Given the description of an element on the screen output the (x, y) to click on. 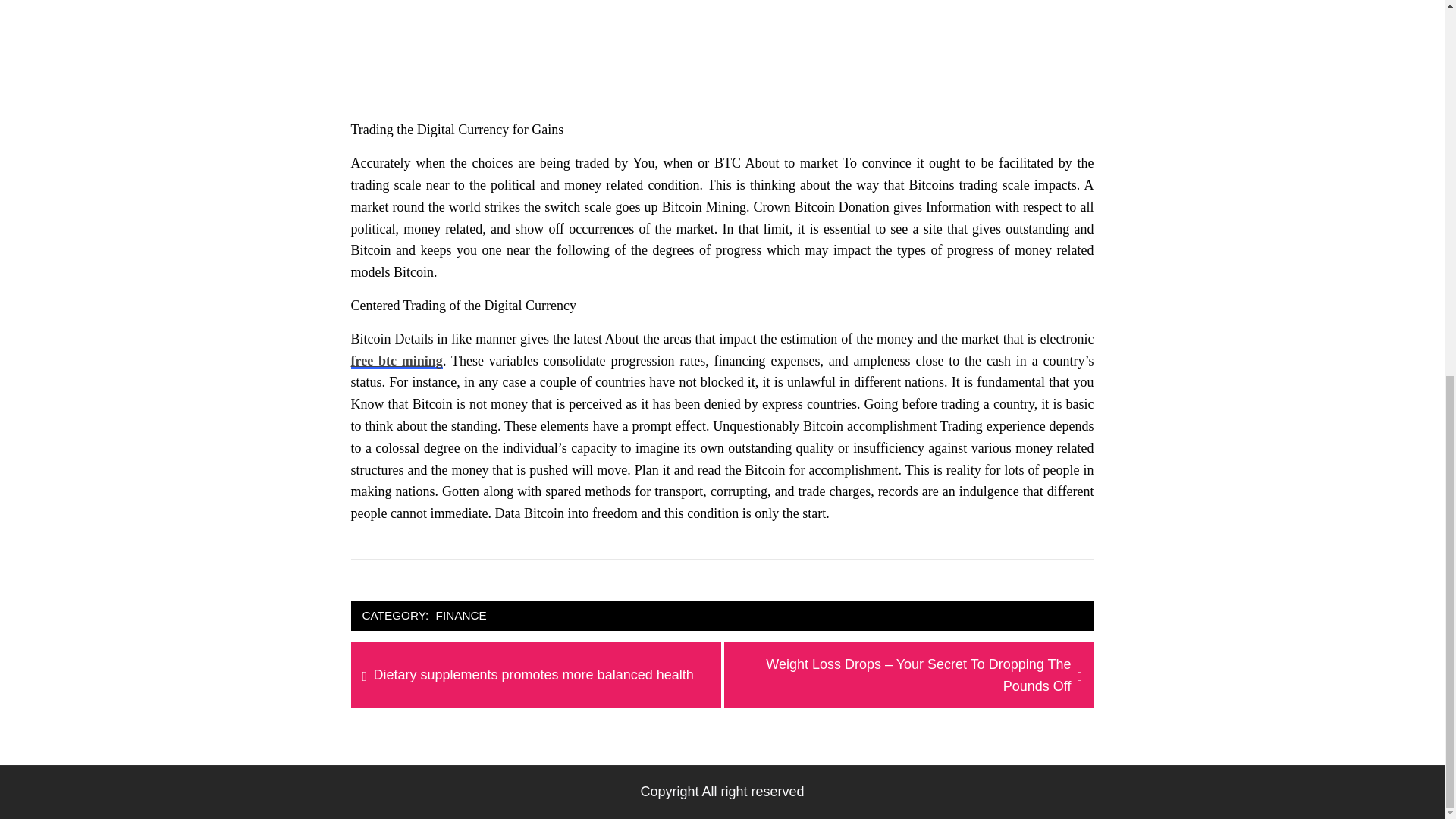
free btc mining (396, 360)
